Given the description of an element on the screen output the (x, y) to click on. 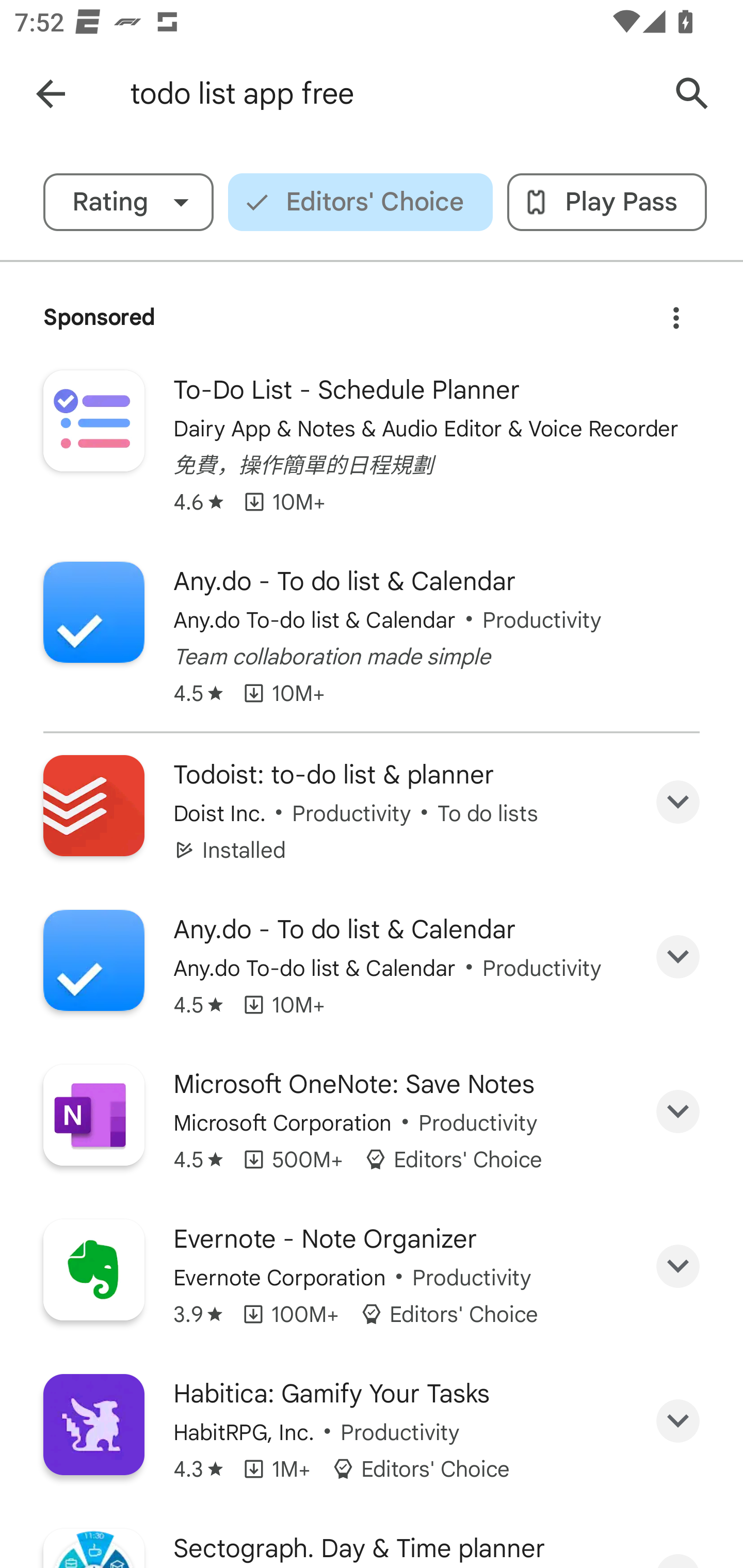
todo list app free (389, 93)
Navigate up (50, 93)
Search Google Play (692, 93)
Rating - double tap to change the filter (128, 202)
Play Pass - double tap to toggle the filter (606, 202)
About this ad (676, 311)
Expand content for Todoist: to-do list & planner (677, 801)
Expand content for Any.do - To do list & Calendar (677, 957)
Expand content for Microsoft OneNote: Save Notes (677, 1111)
Expand content for Evernote - Note Organizer (677, 1266)
Expand content for Habitica: Gamify Your Tasks (677, 1421)
